Given the description of an element on the screen output the (x, y) to click on. 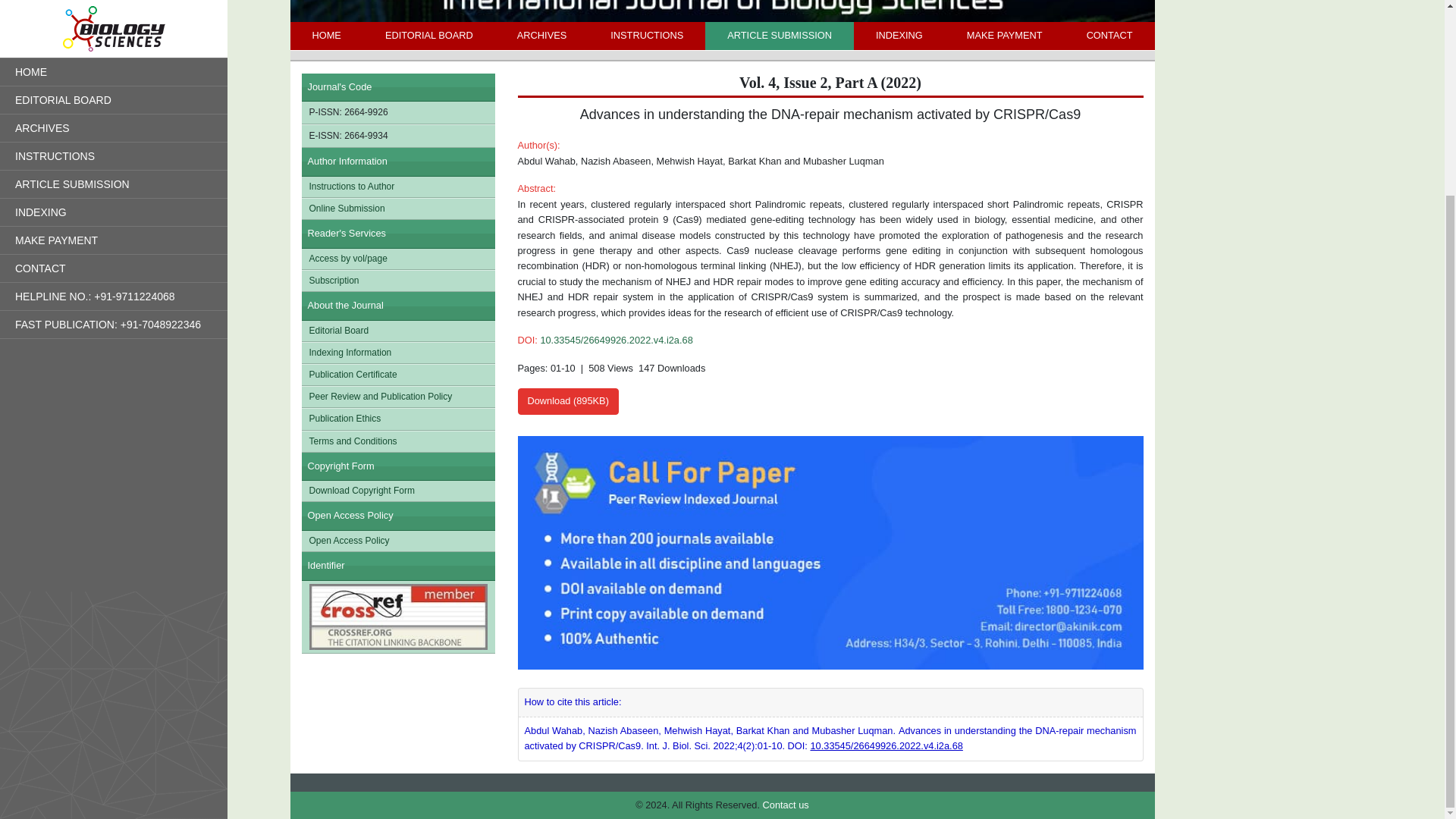
Publication Ethics (398, 418)
Publication Certificate (398, 374)
Download Copyright Form (398, 490)
Instructions to Author (398, 186)
Open Access Policy (398, 540)
INSTRUCTIONS (646, 35)
Subscription (398, 281)
EDITORIAL BOARD (428, 35)
ARCHIVES (541, 35)
Indexing Information (398, 353)
MAKE PAYMENT (1004, 35)
ARTICLE SUBMISSION (778, 35)
HOME (325, 35)
Editorial Board (398, 331)
INDEXING (898, 35)
